Given the description of an element on the screen output the (x, y) to click on. 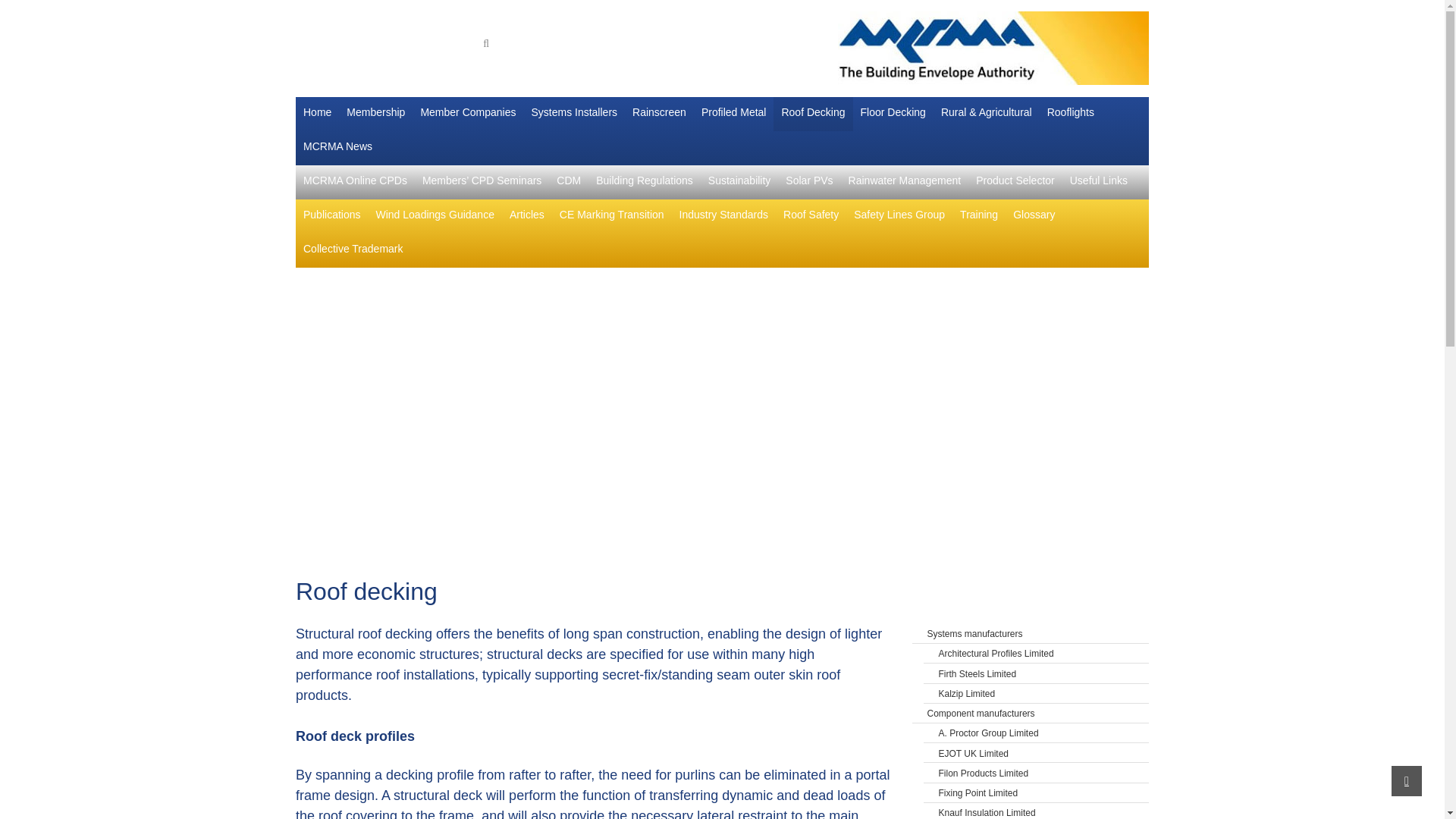
Solar PVs (808, 182)
Articles (526, 216)
MCRMA Online CPDs (354, 182)
Member Companies (467, 114)
Profiled Metal (734, 114)
Product Selector (1015, 182)
Kalzip Limited (1044, 693)
Roof Safety (810, 216)
Wind Loadings Guidance (435, 216)
Collective Trademark (352, 250)
